Given the description of an element on the screen output the (x, y) to click on. 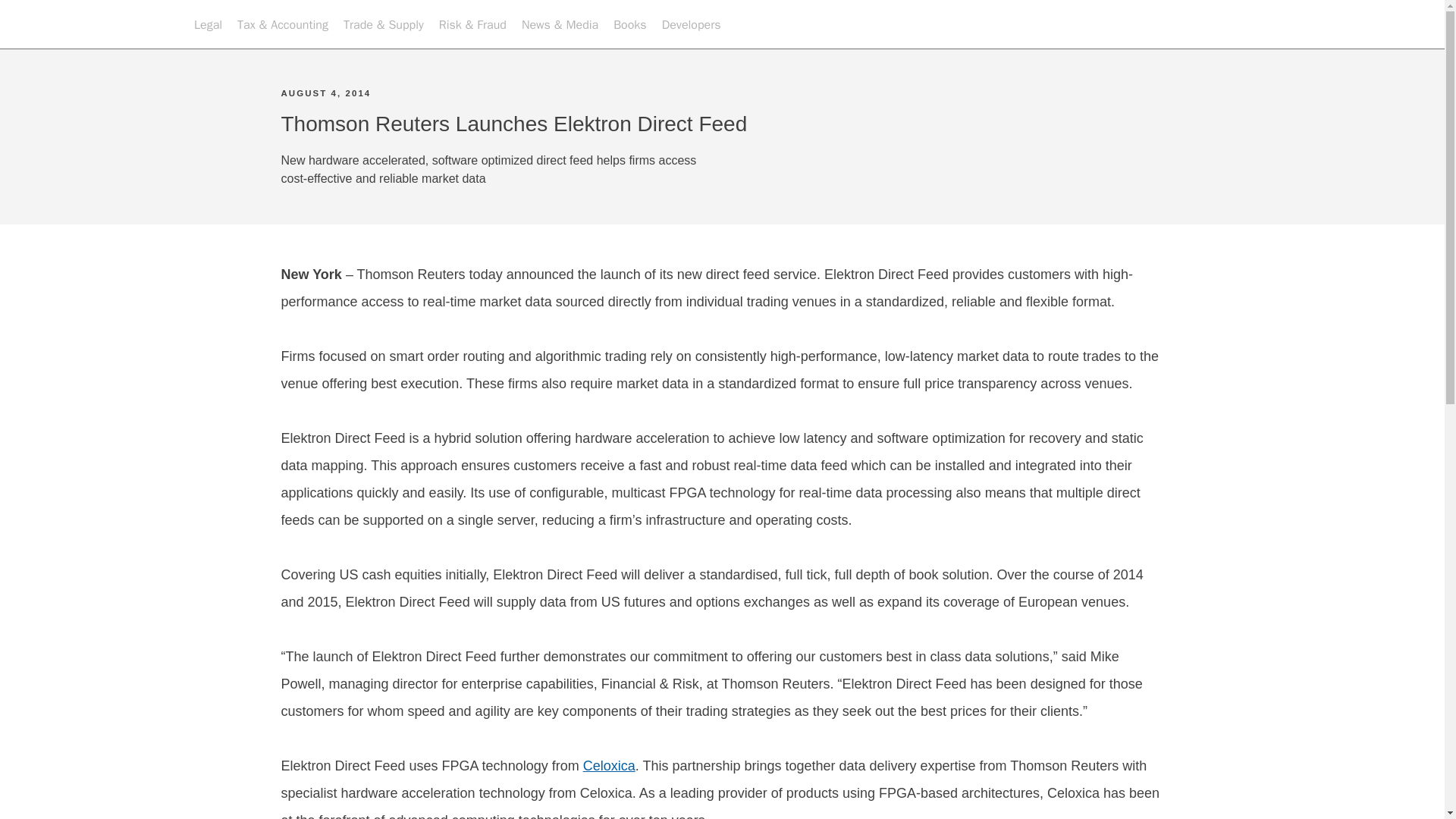
Books (629, 24)
Developers (691, 24)
Legal (208, 24)
